Given the description of an element on the screen output the (x, y) to click on. 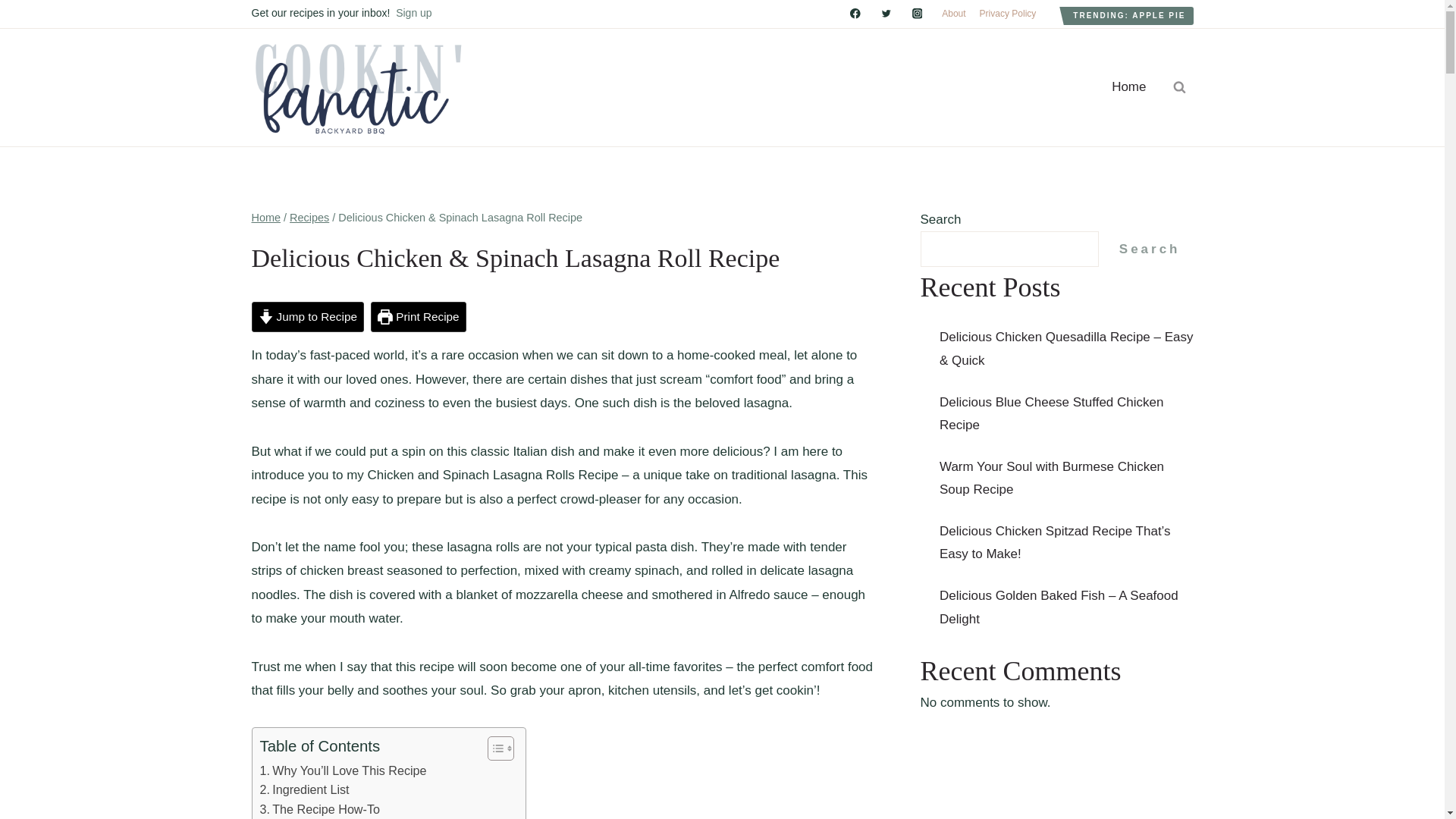
Jump to Recipe (307, 317)
The Recipe How-To (318, 809)
Print Recipe (418, 317)
Home (1128, 87)
Privacy Policy (1007, 13)
About (953, 13)
The Recipe How-To (318, 809)
Ingredient List (304, 790)
TRENDING: APPLE PIE (1128, 15)
Recipes (309, 217)
Sign up (413, 12)
Home (266, 217)
Ingredient List (304, 790)
